Given the description of an element on the screen output the (x, y) to click on. 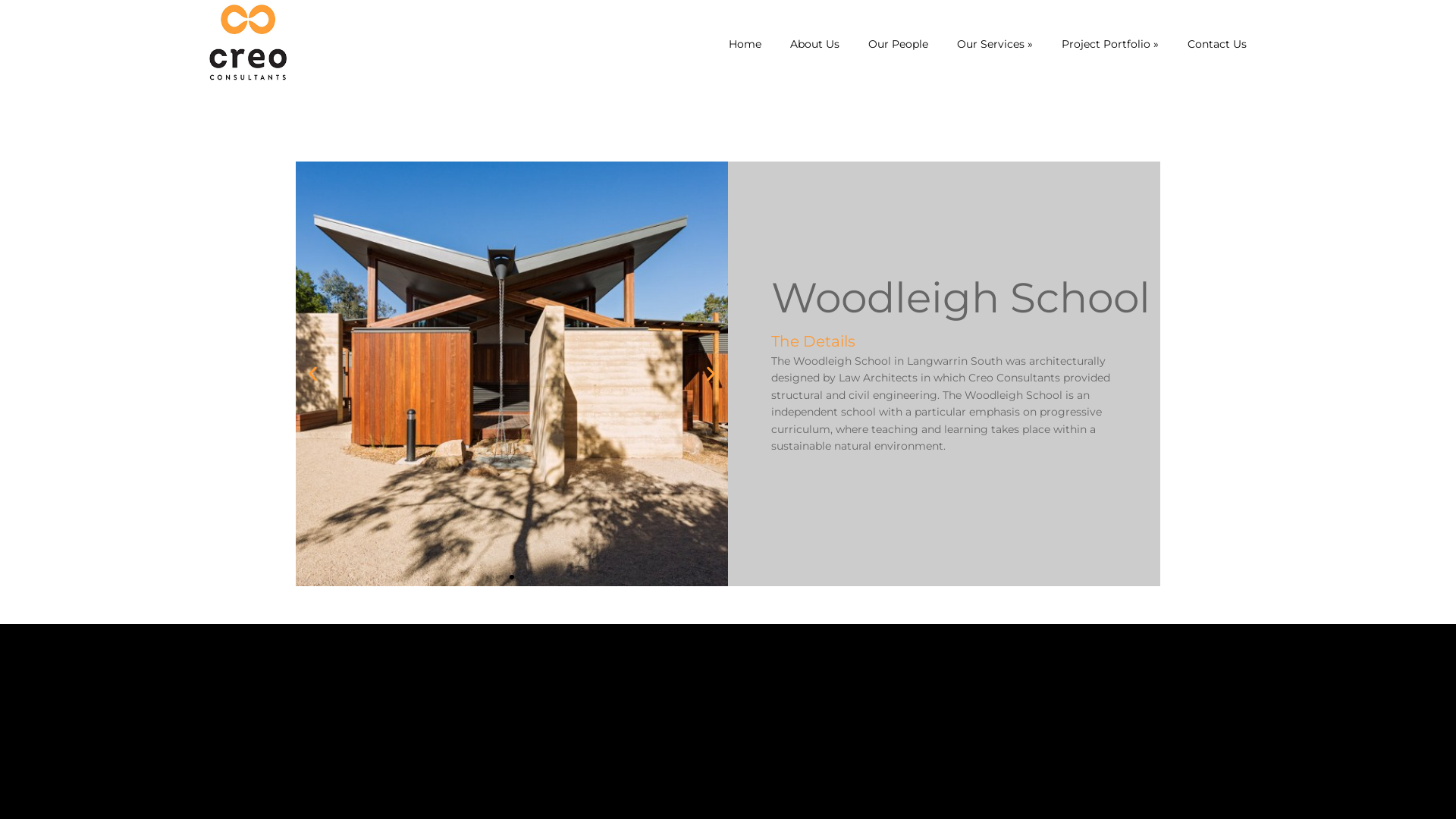
Home Element type: text (744, 43)
About Us Element type: text (814, 43)
Our People Element type: text (897, 43)
Contact Us Element type: text (1216, 43)
